Given the description of an element on the screen output the (x, y) to click on. 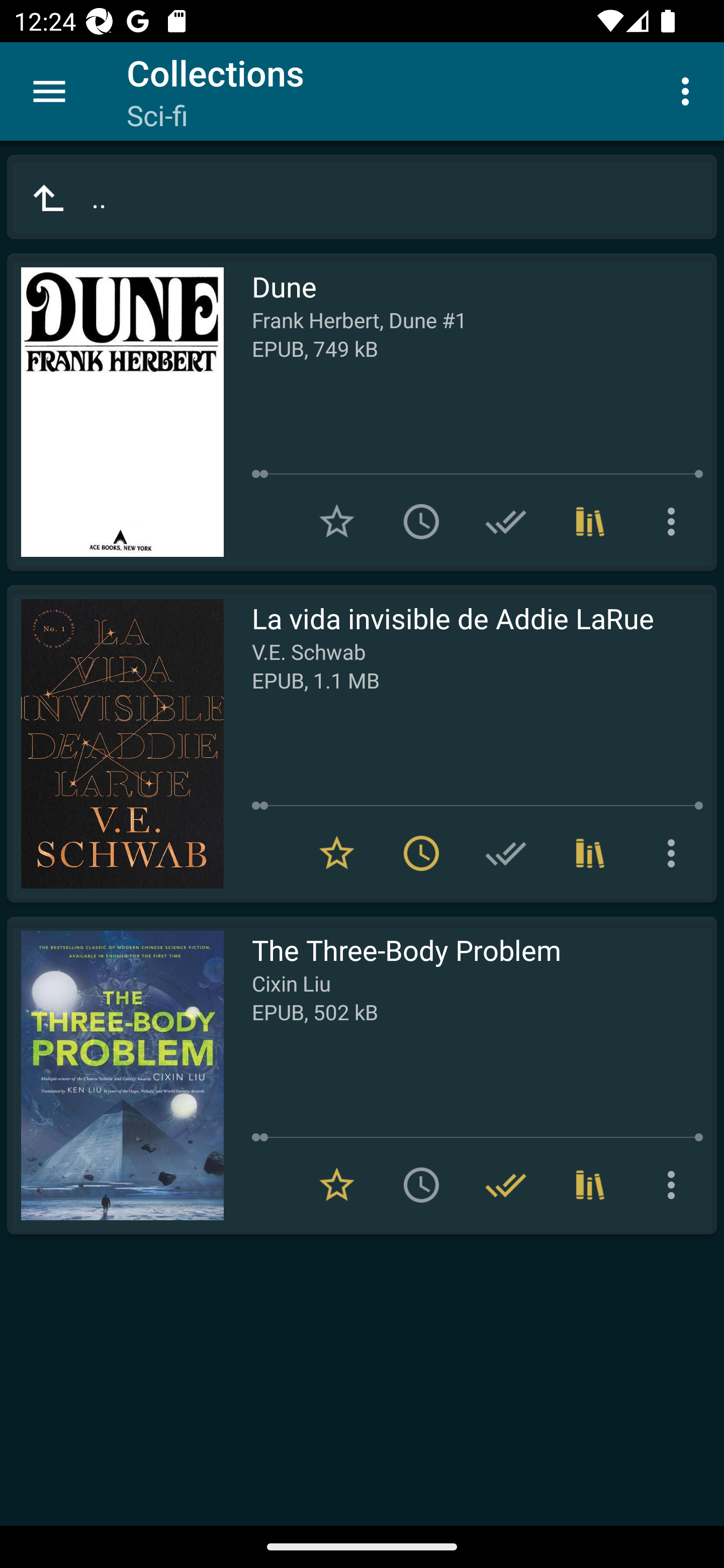
Menu (49, 91)
More options (688, 90)
.. (361, 197)
Read Dune (115, 412)
Add to Favorites (336, 521)
Add to To read (421, 521)
Add to Have read (505, 521)
Collections (1) (590, 521)
More options (674, 521)
Read La vida invisible de Addie LaRue (115, 743)
Remove from Favorites (336, 852)
Remove from To read (421, 852)
Add to Have read (505, 852)
Collections (1) (590, 852)
More options (674, 852)
Read The Three-Body Problem (115, 1075)
Remove from Favorites (336, 1185)
Add to To read (421, 1185)
Remove from Have read (505, 1185)
Collections (1) (590, 1185)
More options (674, 1185)
